Given the description of an element on the screen output the (x, y) to click on. 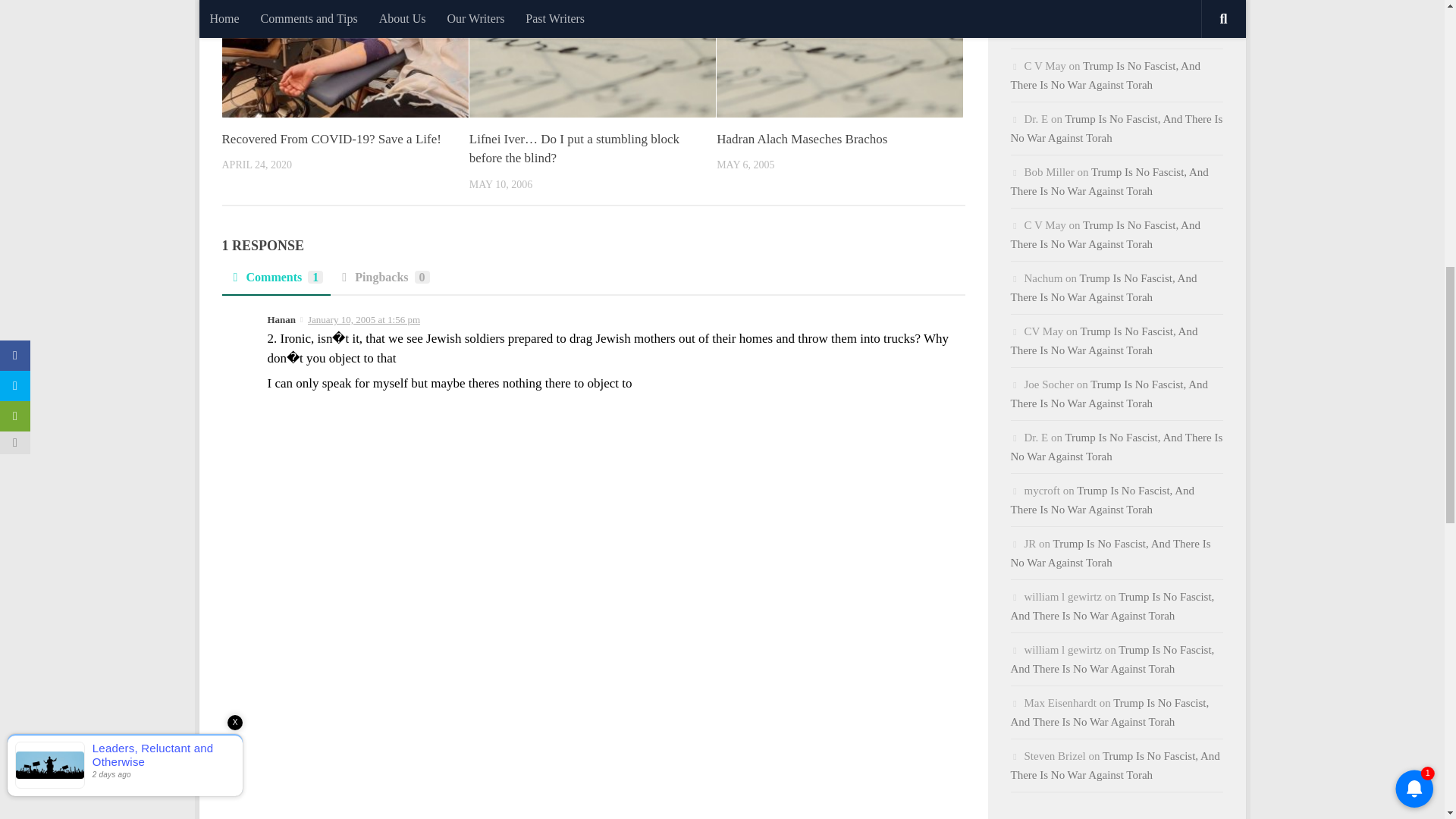
Recovered From COVID-19? Save a Life! (331, 138)
Hadran Alach Maseches Brachos (801, 138)
January 10, 2005 at 1:56 pm (363, 319)
Pingbacks0 (383, 281)
Comments1 (275, 281)
